Given the description of an element on the screen output the (x, y) to click on. 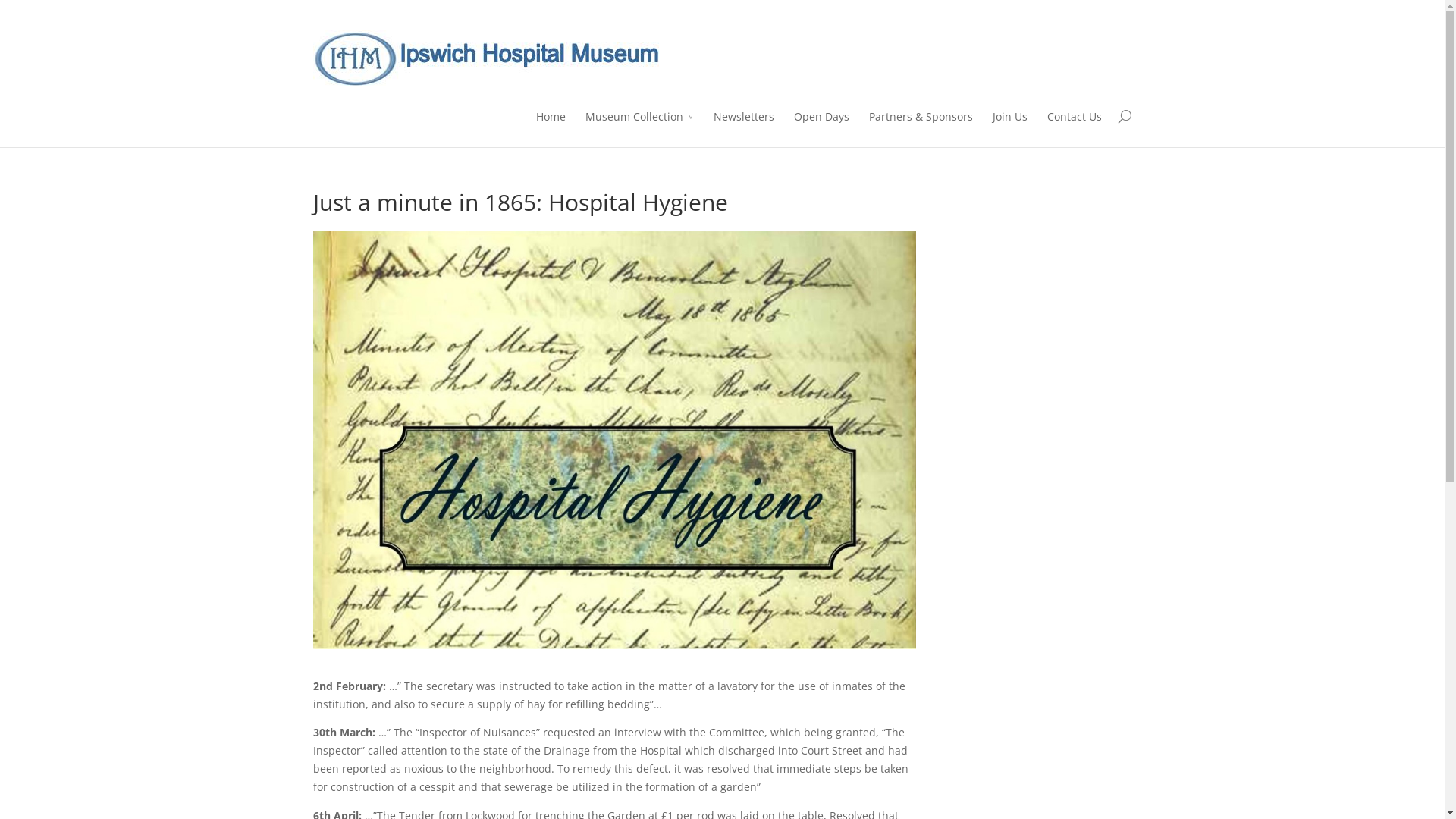
Partners & Sponsors Element type: text (920, 127)
Join Us Element type: text (1008, 127)
Museum Collection Element type: text (639, 127)
Home Element type: text (549, 127)
Newsletters Element type: text (742, 127)
Contact Us Element type: text (1073, 127)
Open Days Element type: text (820, 127)
